Given the description of an element on the screen output the (x, y) to click on. 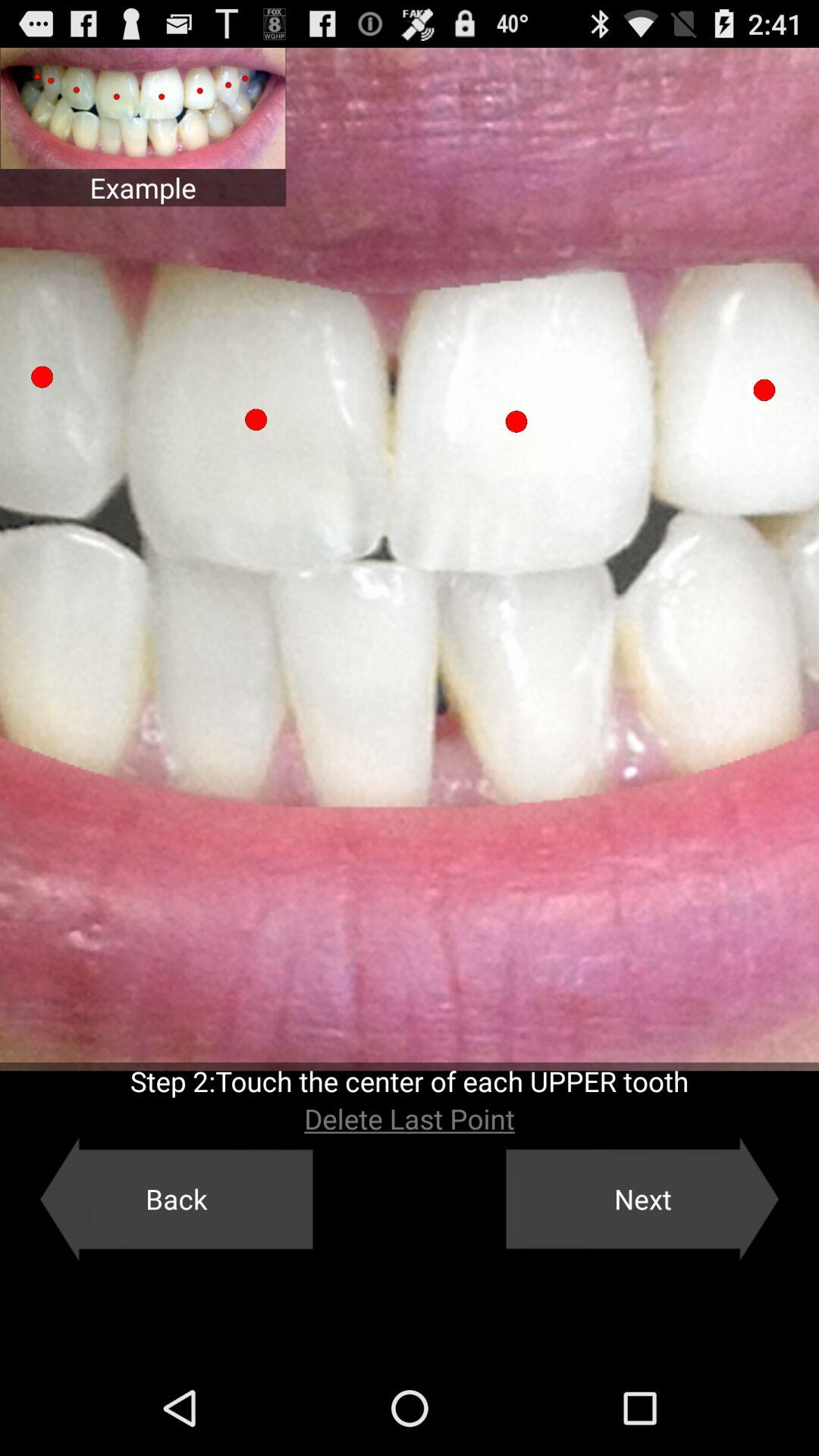
launch icon below delete last point app (642, 1198)
